Given the description of an element on the screen output the (x, y) to click on. 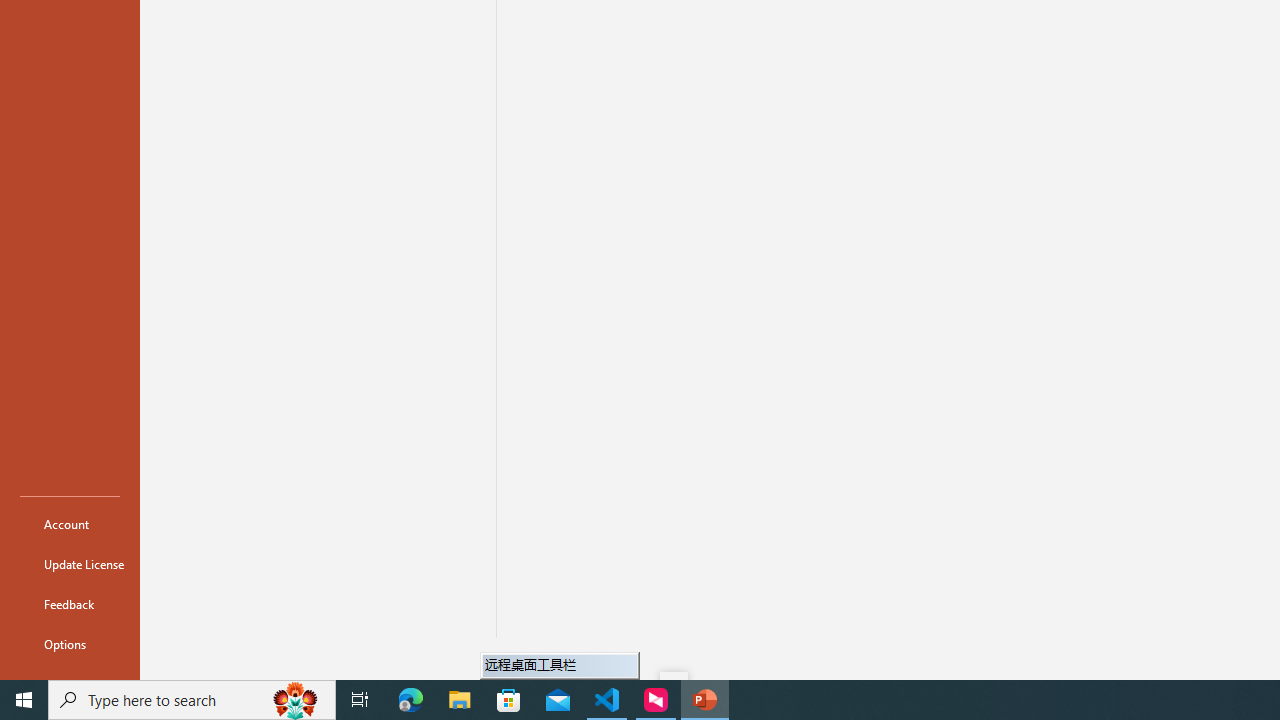
Feedback (69, 603)
Options (69, 643)
Account (69, 523)
Update License (69, 563)
